Given the description of an element on the screen output the (x, y) to click on. 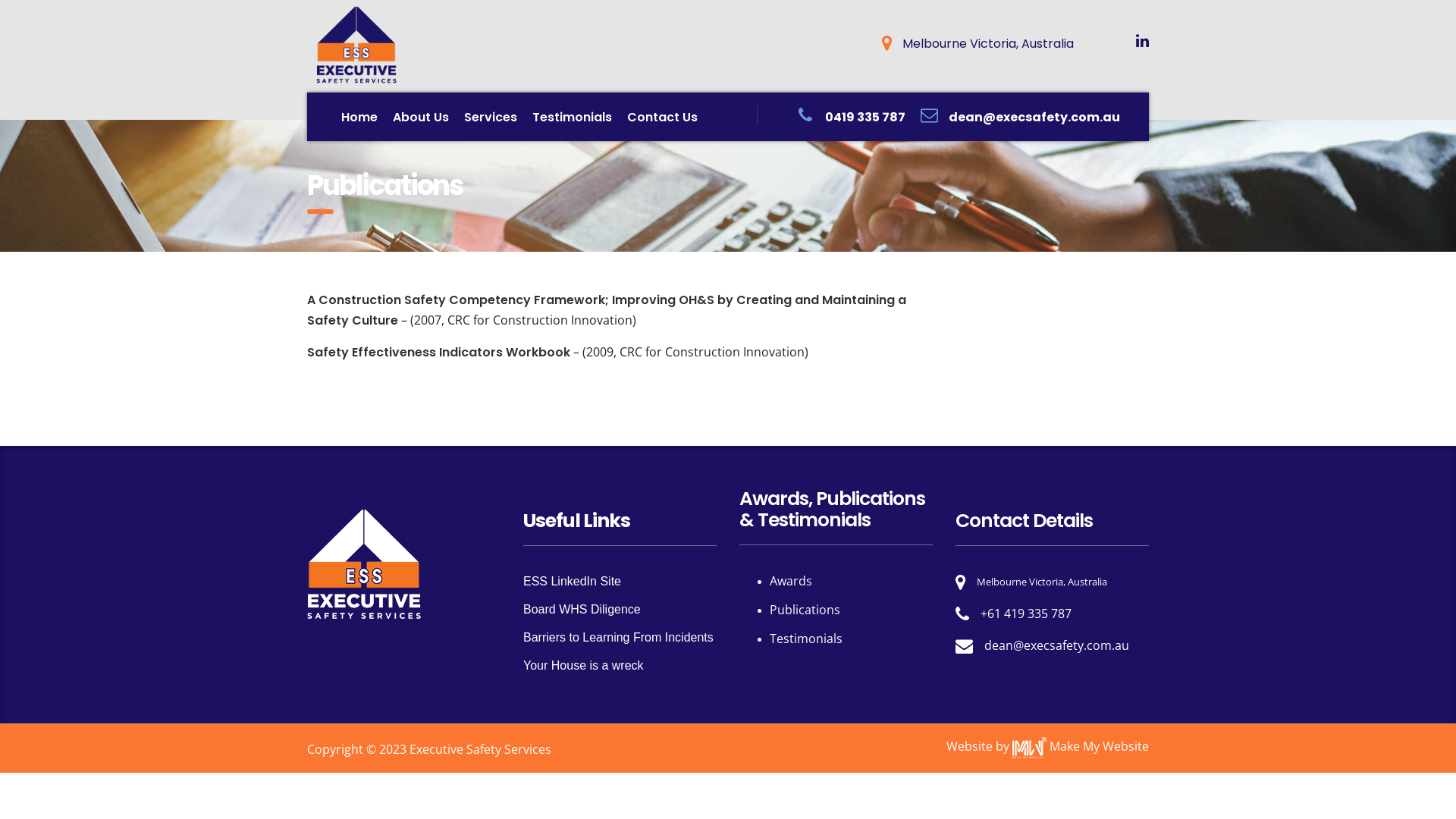
0419 335 787 Element type: text (865, 116)
Contact Us Element type: text (662, 116)
Barriers to Learning From Incidents Element type: text (618, 637)
Website by Make My Website Element type: text (1047, 745)
Home Element type: text (359, 116)
Your House is a wreck Element type: text (583, 665)
Testimonials Element type: text (571, 116)
Services Element type: text (490, 116)
Board WHS Diligence Element type: text (581, 609)
@execsafety.com.au Element type: text (1071, 645)
About Us Element type: text (420, 116)
dean@execsafety.com.au Element type: text (1034, 116)
+61 419 335 787 Element type: text (1025, 613)
Awards Element type: text (790, 580)
Publications Element type: text (804, 609)
Testimonials Element type: text (805, 638)
dean Element type: text (998, 645)
ESS LinkedIn Site Element type: text (572, 581)
